Given the description of an element on the screen output the (x, y) to click on. 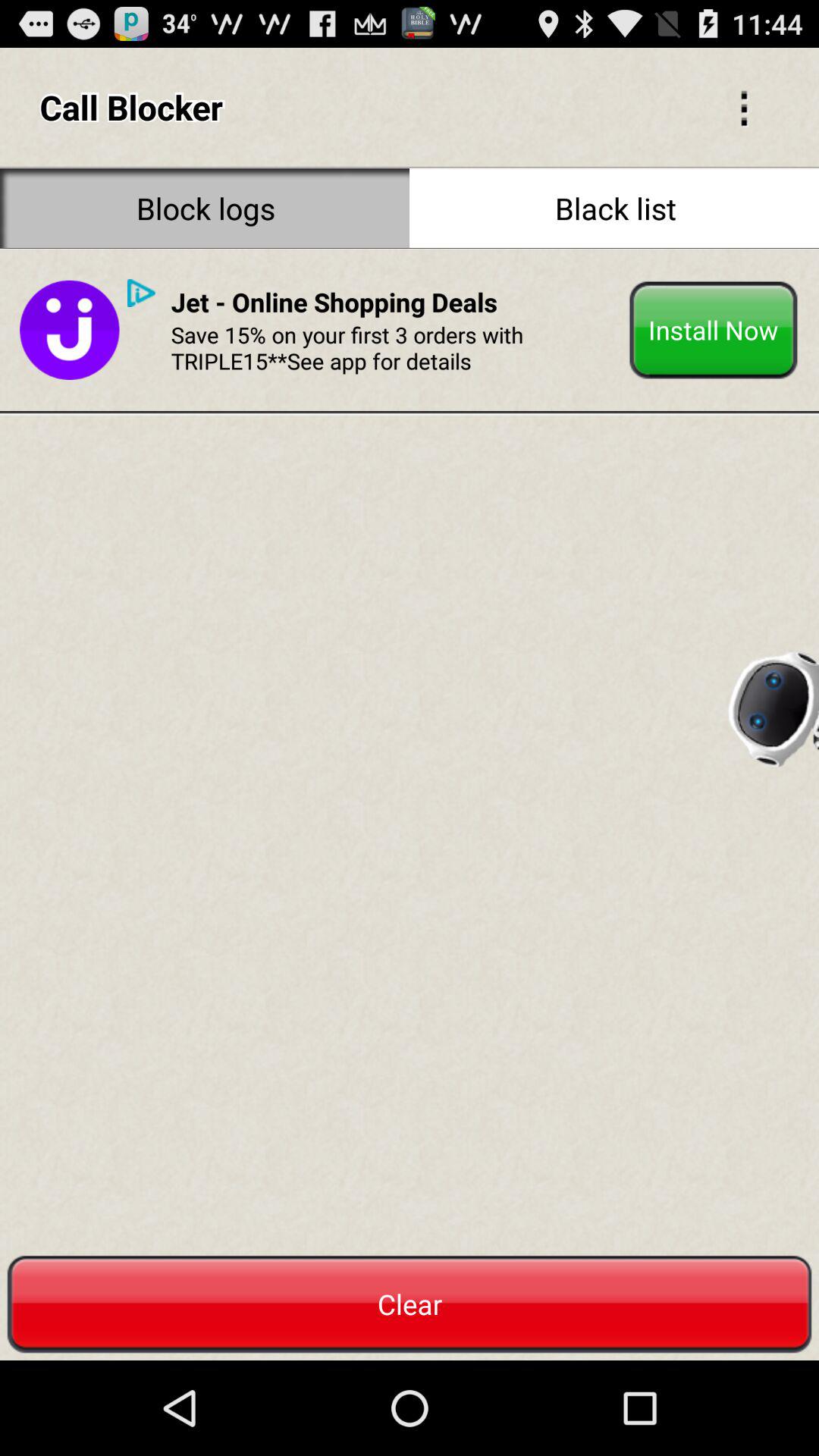
jump until the block logs (204, 207)
